Given the description of an element on the screen output the (x, y) to click on. 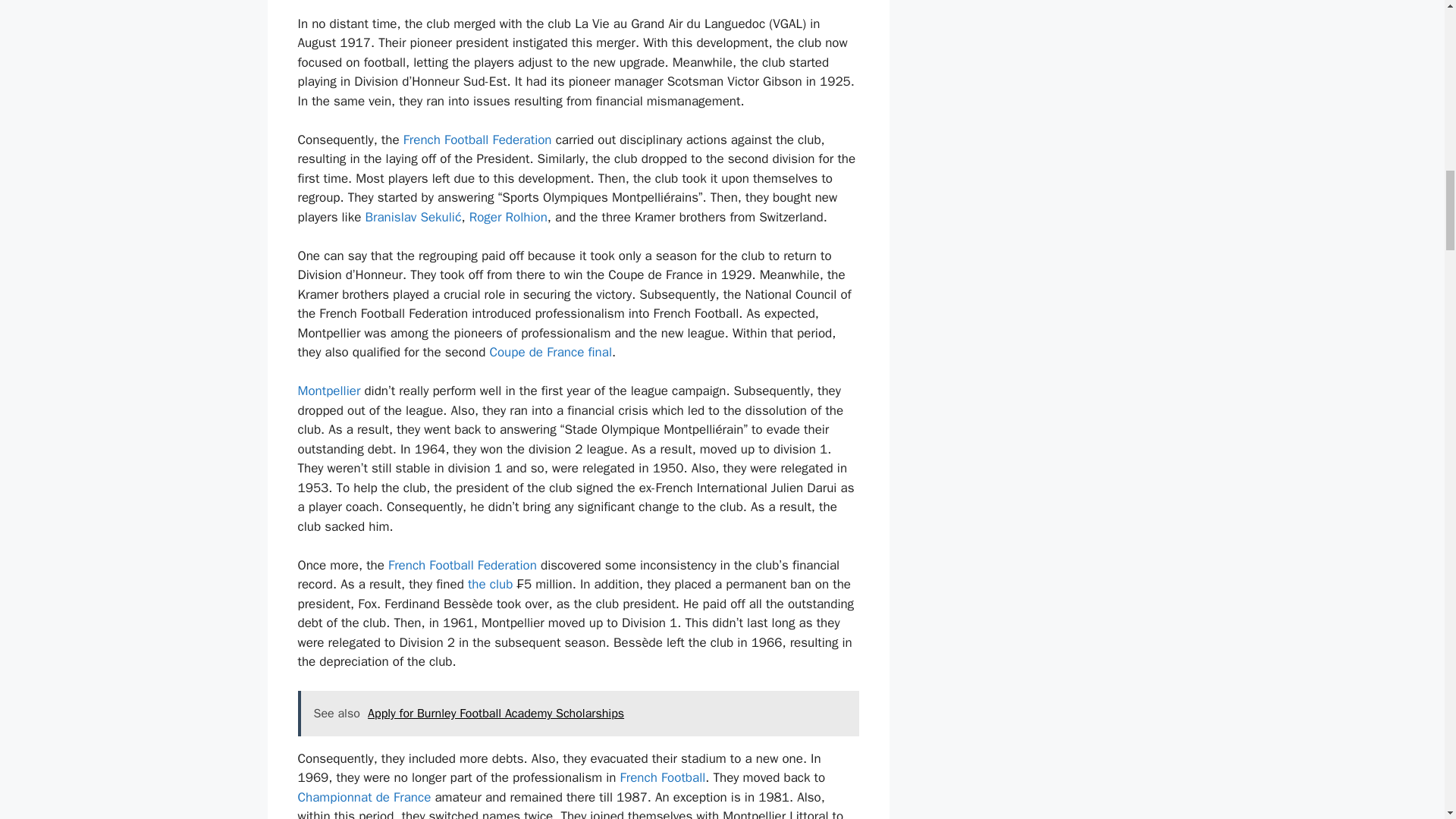
Montpellier (328, 390)
French Football Federation (462, 565)
Roger Rolhion (507, 217)
the club (489, 584)
Coupe de France final (550, 351)
See also  Apply for Burnley Football Academy Scholarships (578, 713)
French Football (663, 777)
French Football Federation (477, 139)
Championnat de France (363, 797)
